Given the description of an element on the screen output the (x, y) to click on. 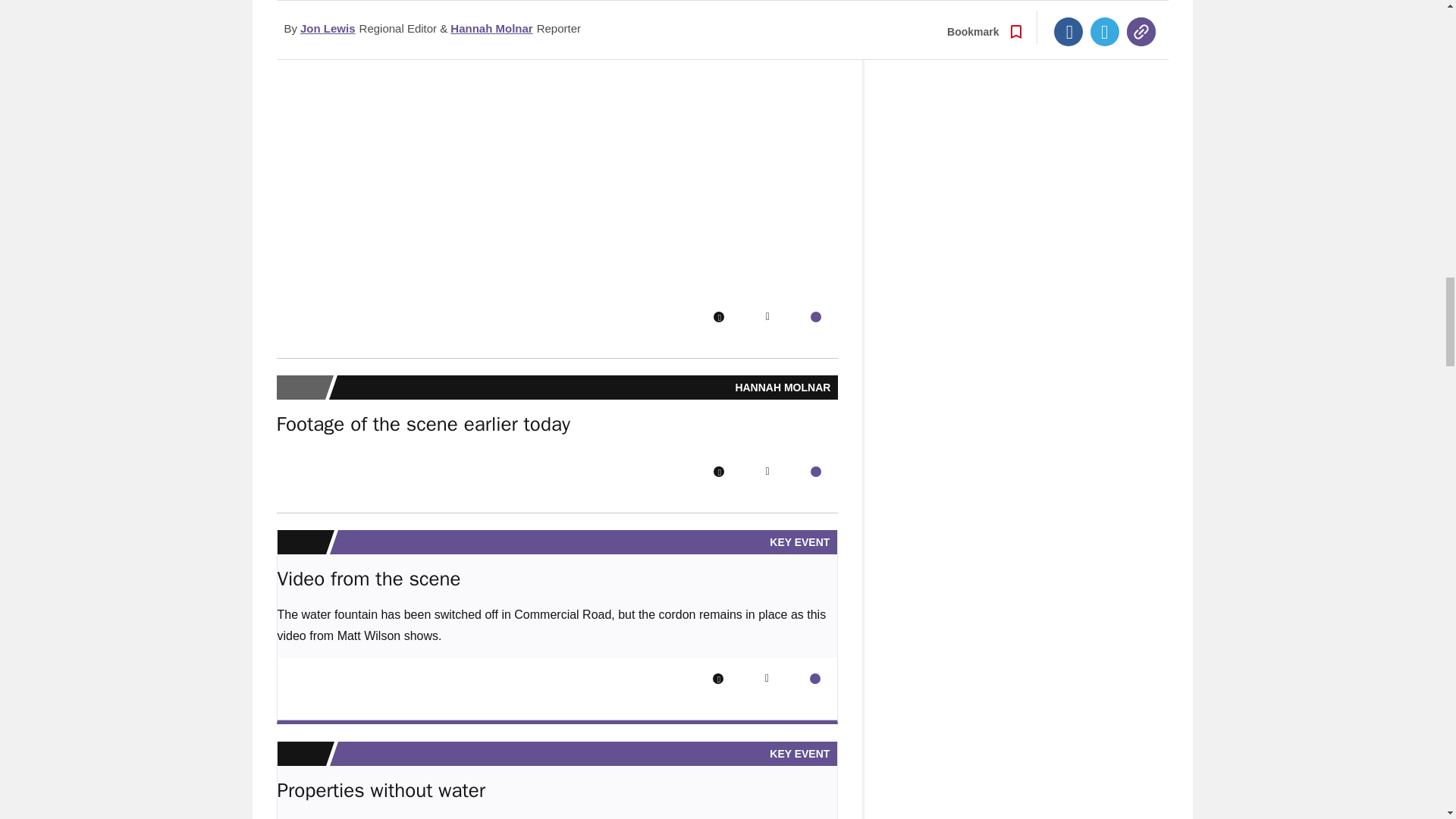
Twitter (767, 317)
Facebook (718, 317)
Facebook (718, 471)
Twitter (767, 471)
